Given the description of an element on the screen output the (x, y) to click on. 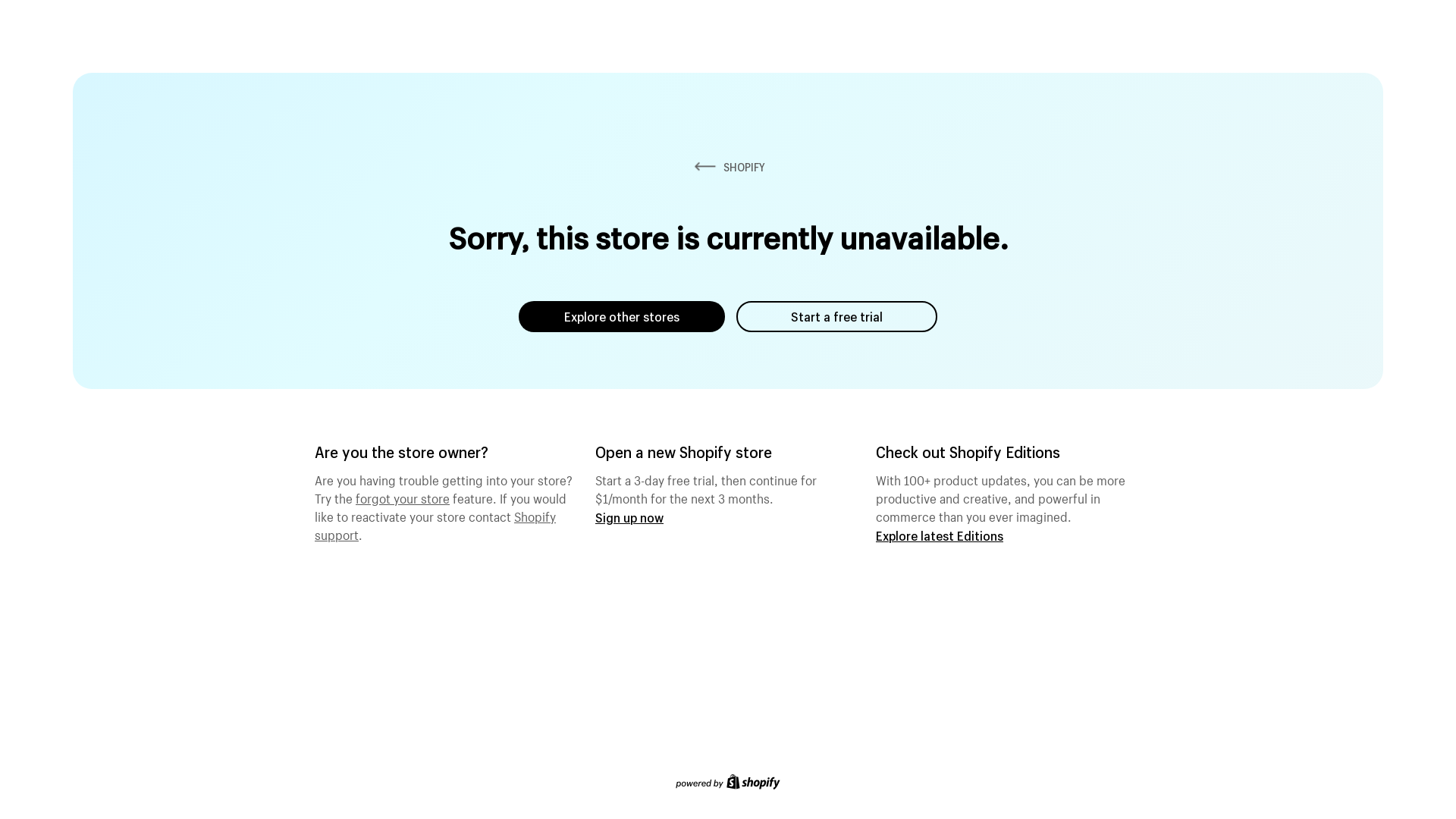
Explore latest Editions Element type: text (939, 535)
Explore other stores Element type: text (621, 316)
forgot your store Element type: text (402, 496)
Start a free trial Element type: text (836, 316)
SHOPIFY Element type: text (727, 167)
Sign up now Element type: text (629, 517)
Shopify support Element type: text (434, 523)
